Given the description of an element on the screen output the (x, y) to click on. 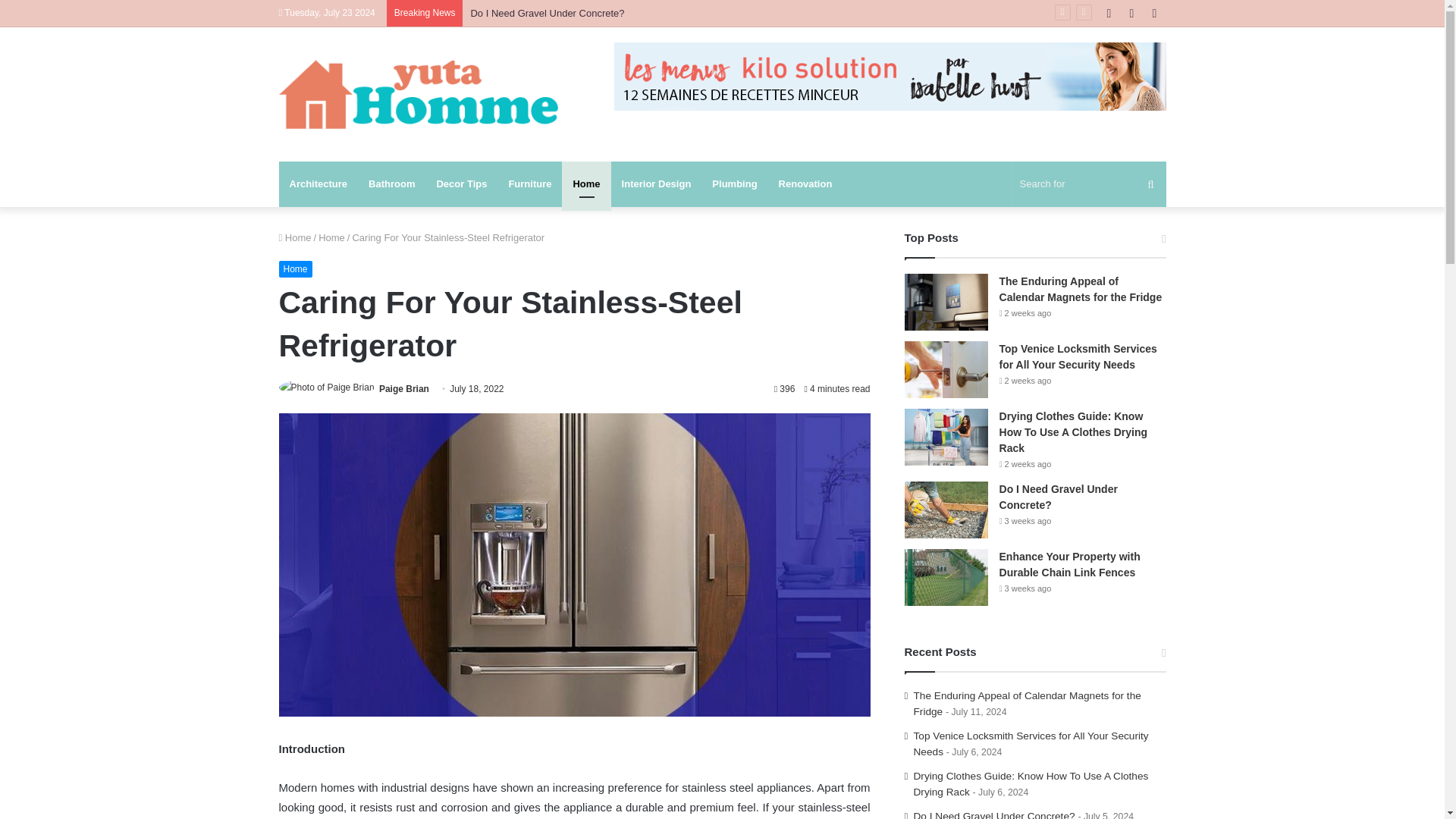
Architecture (318, 184)
Plumbing (734, 184)
Renovation (805, 184)
Decor Tips (461, 184)
Home (586, 184)
Paige Brian (403, 388)
Bathroom (391, 184)
Furniture (529, 184)
Home (331, 237)
Search for (1088, 184)
Do I Need Gravel Under Concrete? (547, 12)
Yuta Homme - Find the Perfect Color for Your Kitchen Cabinet (419, 94)
Home (295, 237)
Interior Design (656, 184)
Home (296, 269)
